Given the description of an element on the screen output the (x, y) to click on. 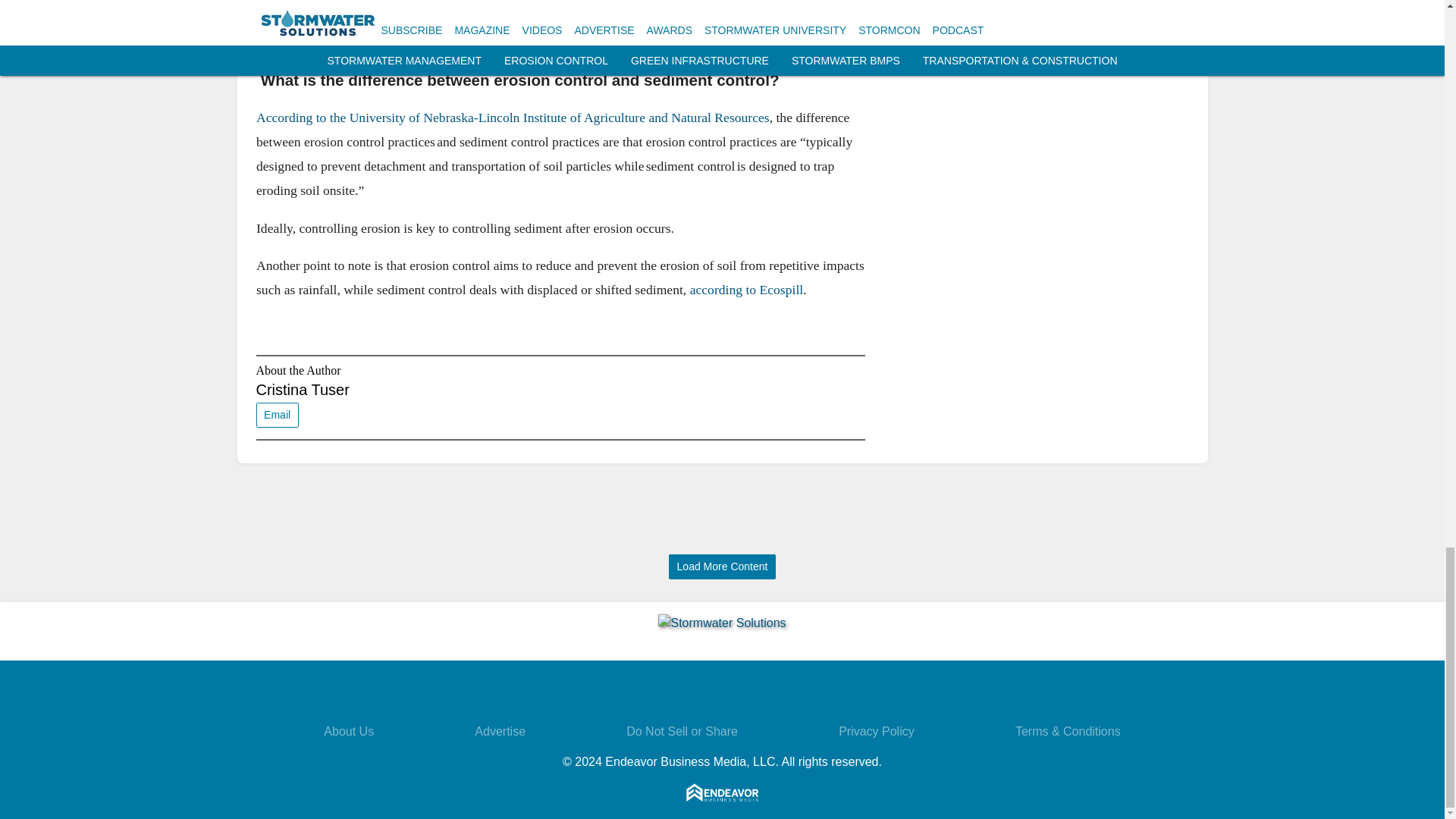
Email (277, 414)
according to Ecospill (745, 289)
